Given the description of an element on the screen output the (x, y) to click on. 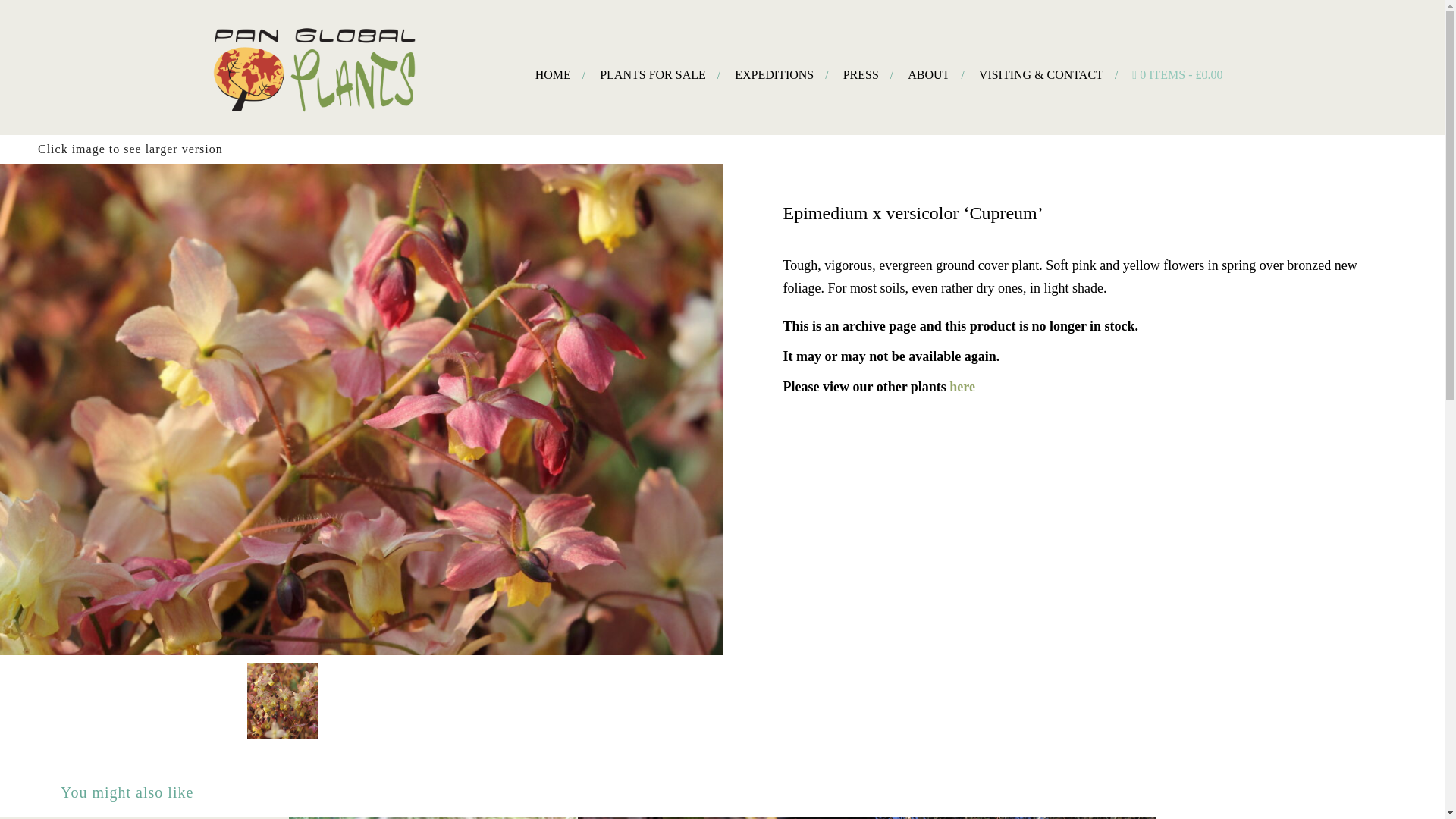
HOME (553, 74)
ABOUT (928, 74)
PRESS (860, 74)
here (962, 386)
Start shopping (1177, 74)
PLANTS FOR SALE (652, 74)
EXPEDITIONS (774, 74)
